Given the description of an element on the screen output the (x, y) to click on. 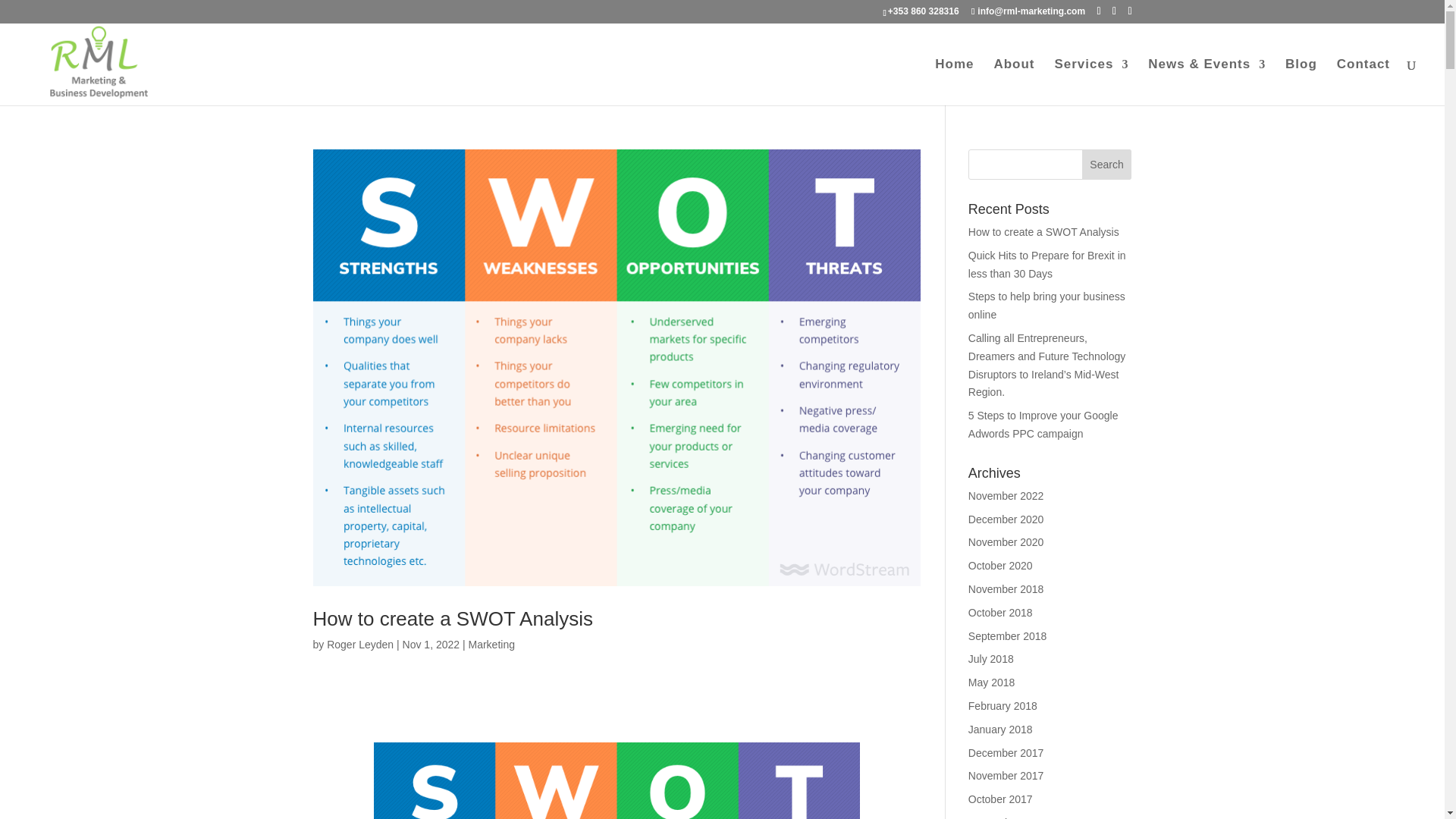
SWOT Analysis 2 (617, 780)
Services (1091, 81)
Marketing (490, 644)
Posts by Roger Leyden (359, 644)
Search (1106, 164)
Roger Leyden (359, 644)
How to create a SWOT Analysis (452, 618)
Contact (1363, 81)
